Given the description of an element on the screen output the (x, y) to click on. 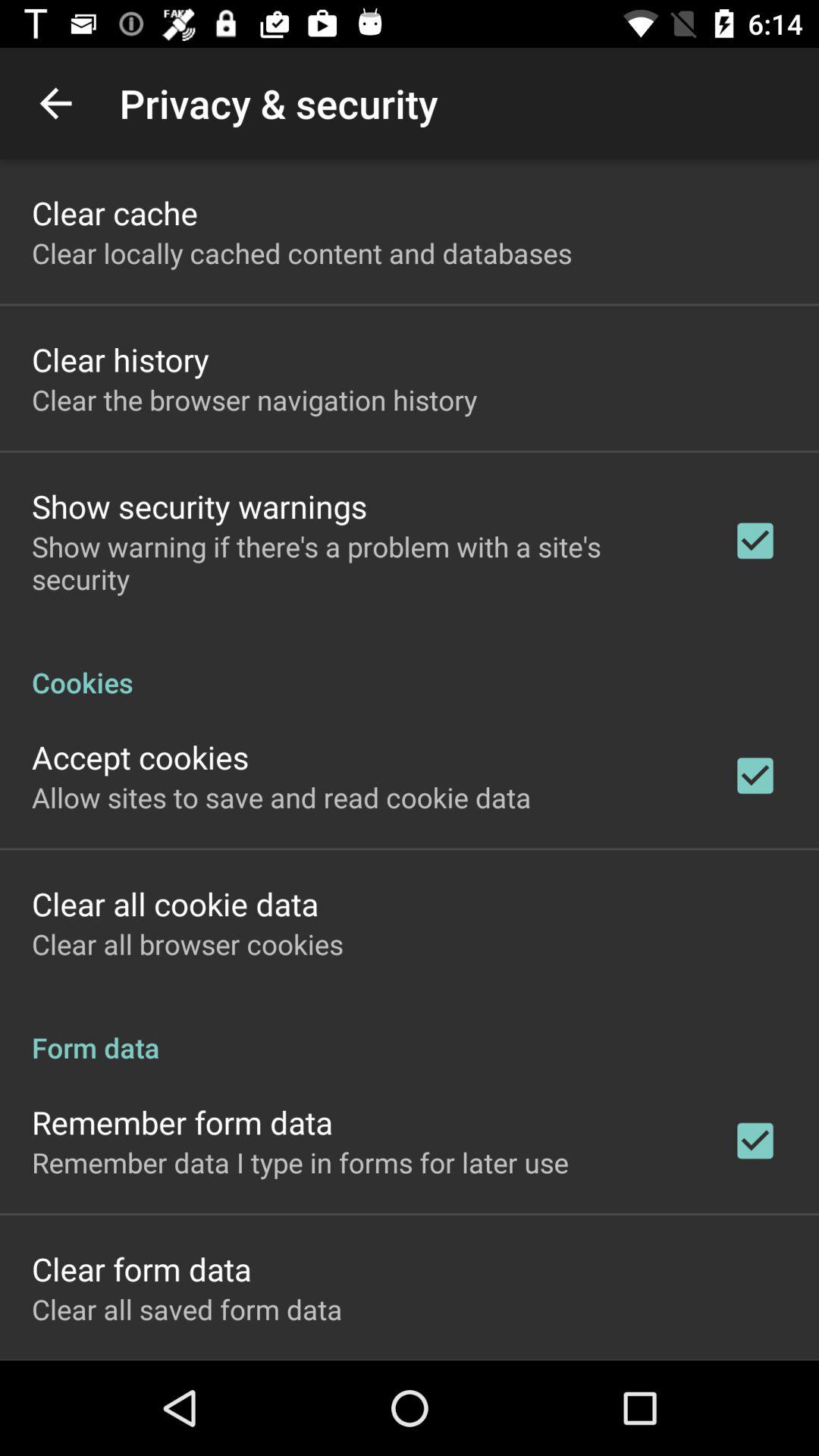
select the item above the clear cache (55, 103)
